Given the description of an element on the screen output the (x, y) to click on. 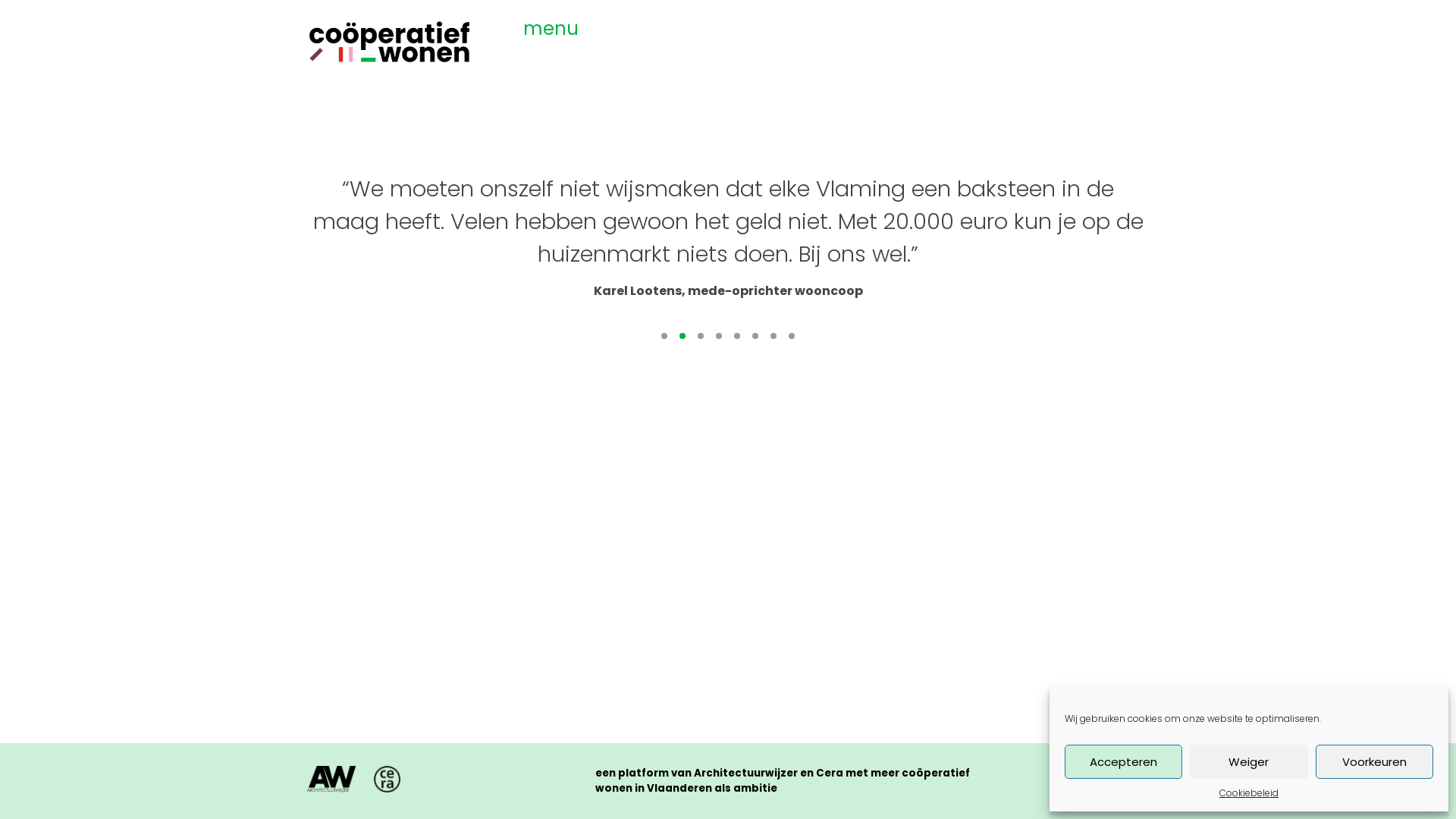
Voorkeuren Element type: text (1374, 761)
Cookiebeleid Element type: text (1248, 793)
Weiger Element type: text (1248, 761)
menu Element type: text (550, 26)
Accepteren Element type: text (1123, 761)
